Given the description of an element on the screen output the (x, y) to click on. 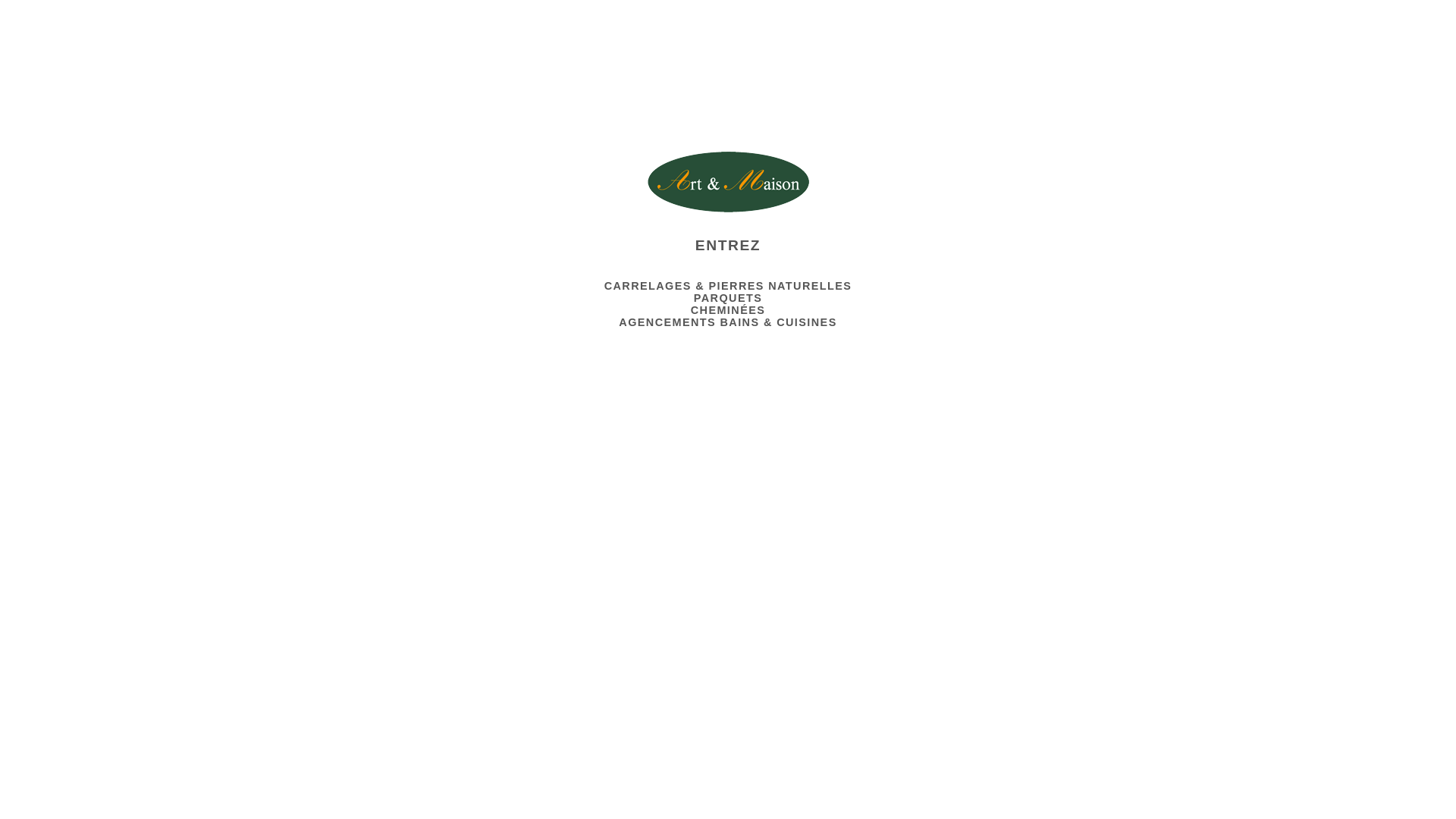
CARRELAGES & PIERRES NATURELLES Element type: text (728, 285)
ENTREZ Element type: text (727, 239)
Entrez sur Art et Maison Element type: hover (728, 181)
AGENCEMENTS BAINS & CUISINES Element type: text (727, 322)
PARQUETS Element type: text (727, 297)
